Given the description of an element on the screen output the (x, y) to click on. 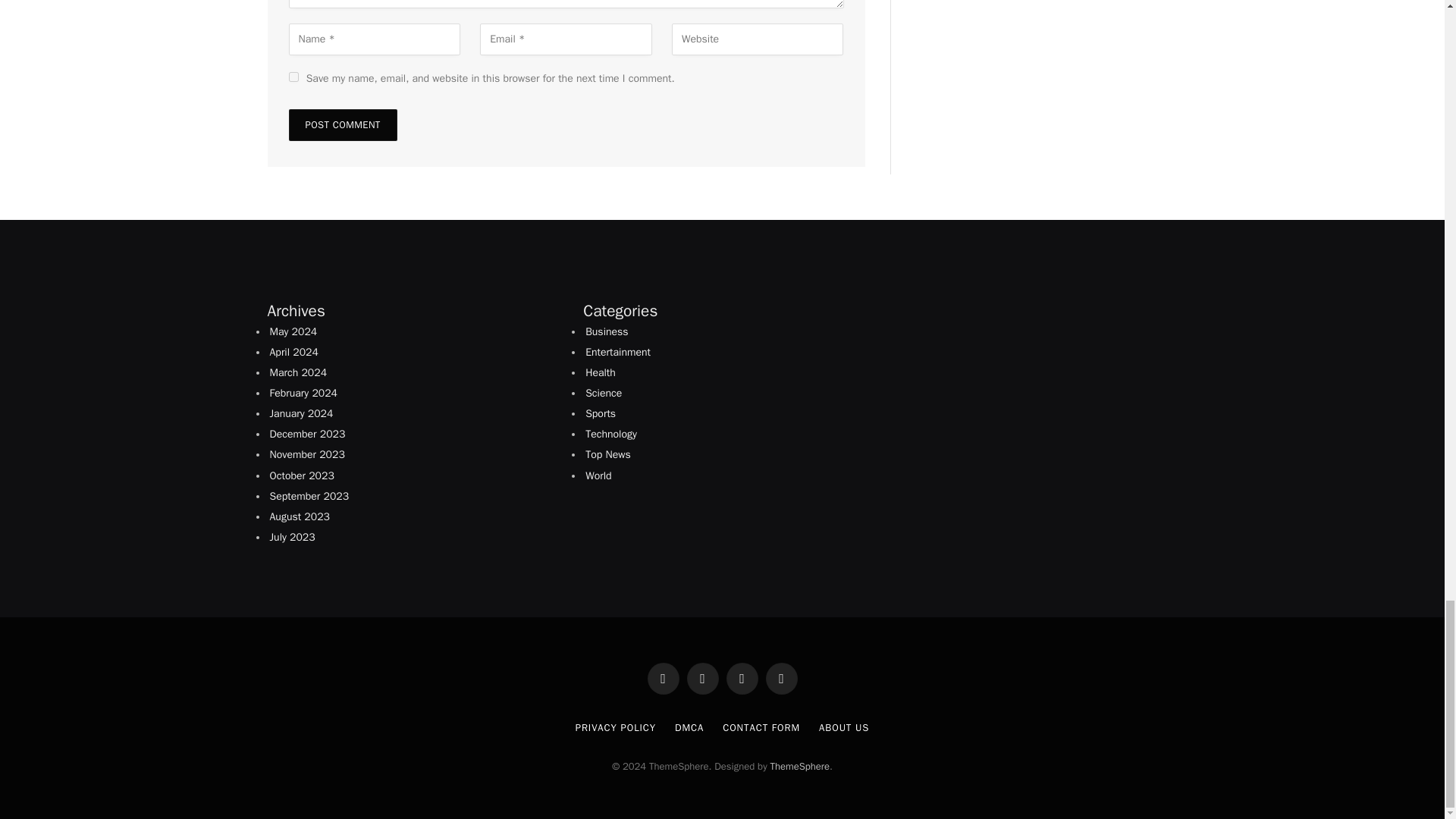
yes (293, 76)
Post Comment (342, 124)
